Given the description of an element on the screen output the (x, y) to click on. 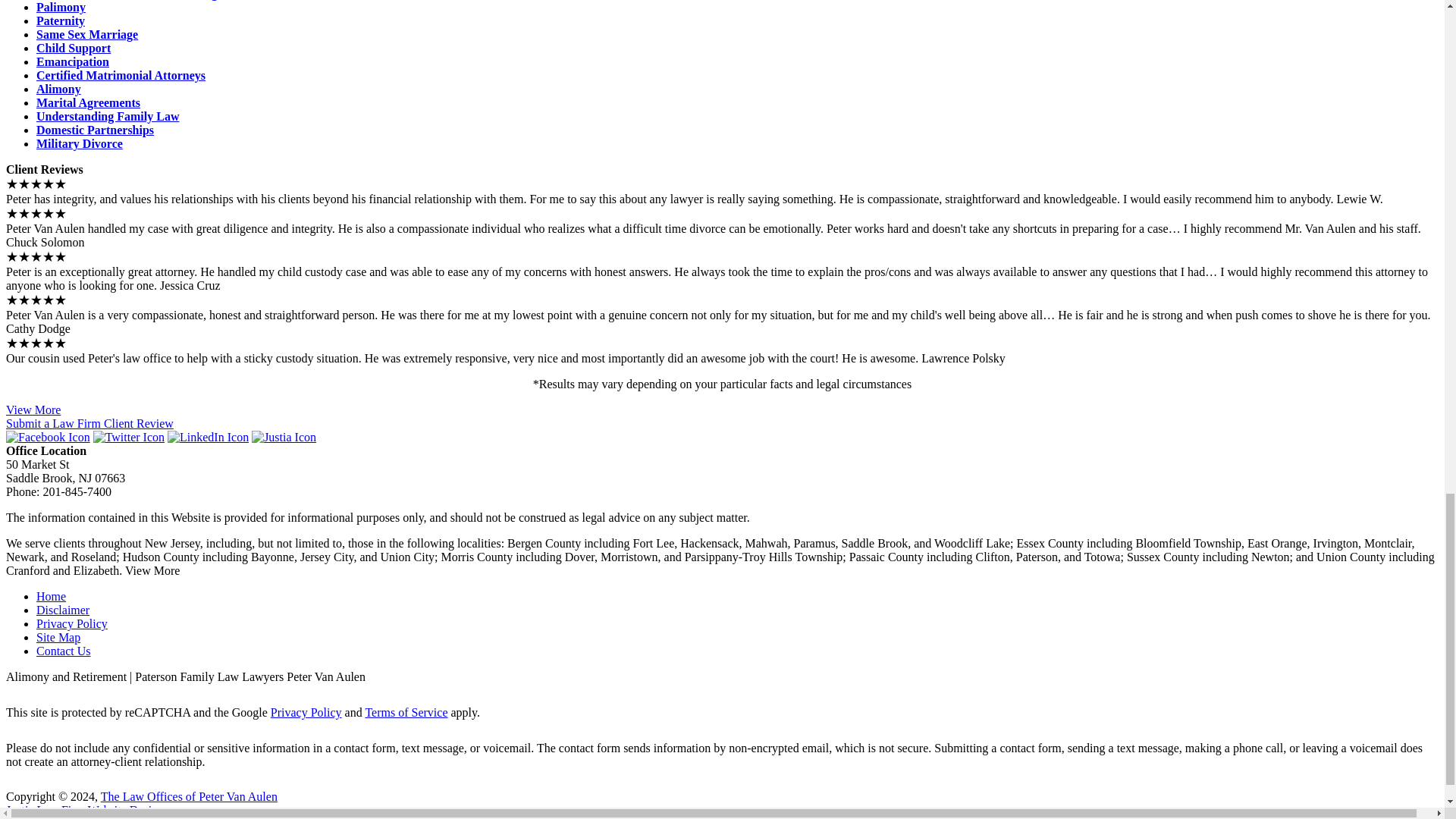
Site Map (58, 636)
Disclaimer (62, 609)
Submit a Law Firm Client Review (89, 422)
The Law Offices of Peter Van Aulen (189, 796)
Privacy Policy (71, 623)
Terms of Service (405, 712)
LinkedIn (207, 436)
Understanding Family Law (107, 115)
Facebook (47, 436)
Marital Agreements (87, 102)
Palimony (60, 6)
Privacy Policy (306, 712)
Same Sex Marriage (87, 33)
Military Divorce (79, 143)
Justia Law Firm Website Design (84, 809)
